Given the description of an element on the screen output the (x, y) to click on. 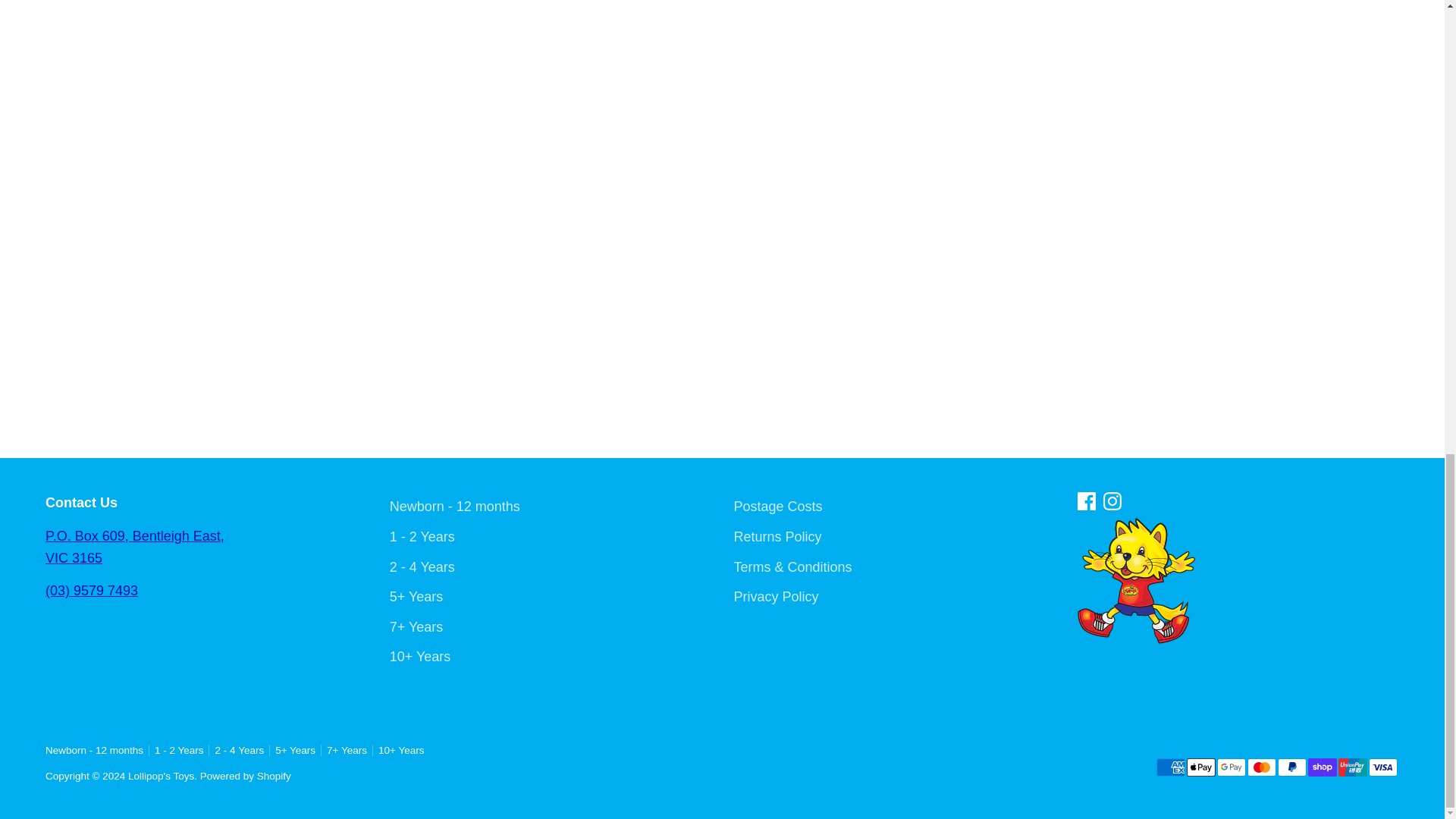
PayPal (1292, 767)
American Express (1170, 767)
Mastercard (1261, 767)
Apple Pay (1200, 767)
Google Pay (1231, 767)
